Given the description of an element on the screen output the (x, y) to click on. 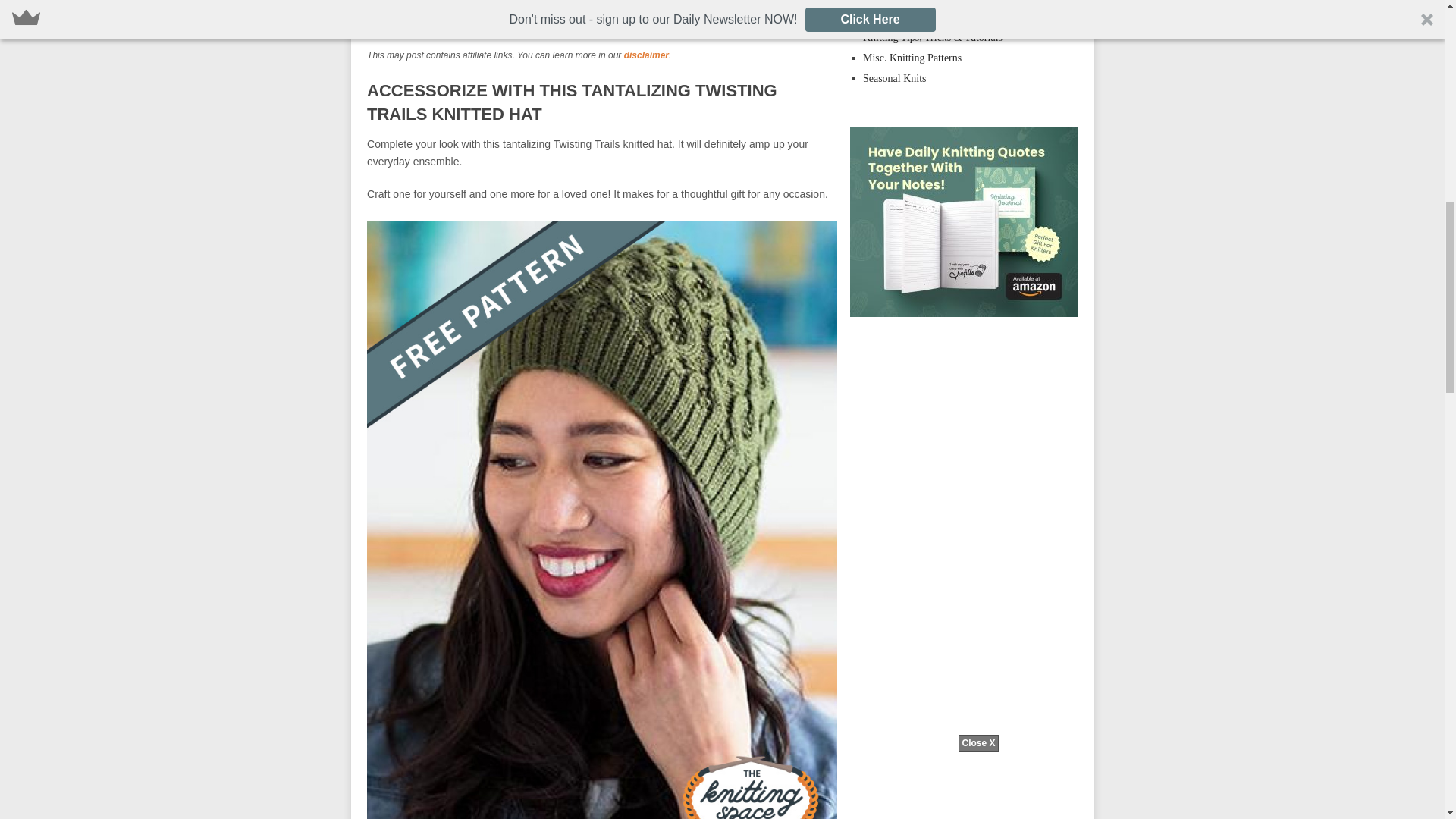
disclaimer (646, 54)
Advertisement (601, 23)
